Given the description of an element on the screen output the (x, y) to click on. 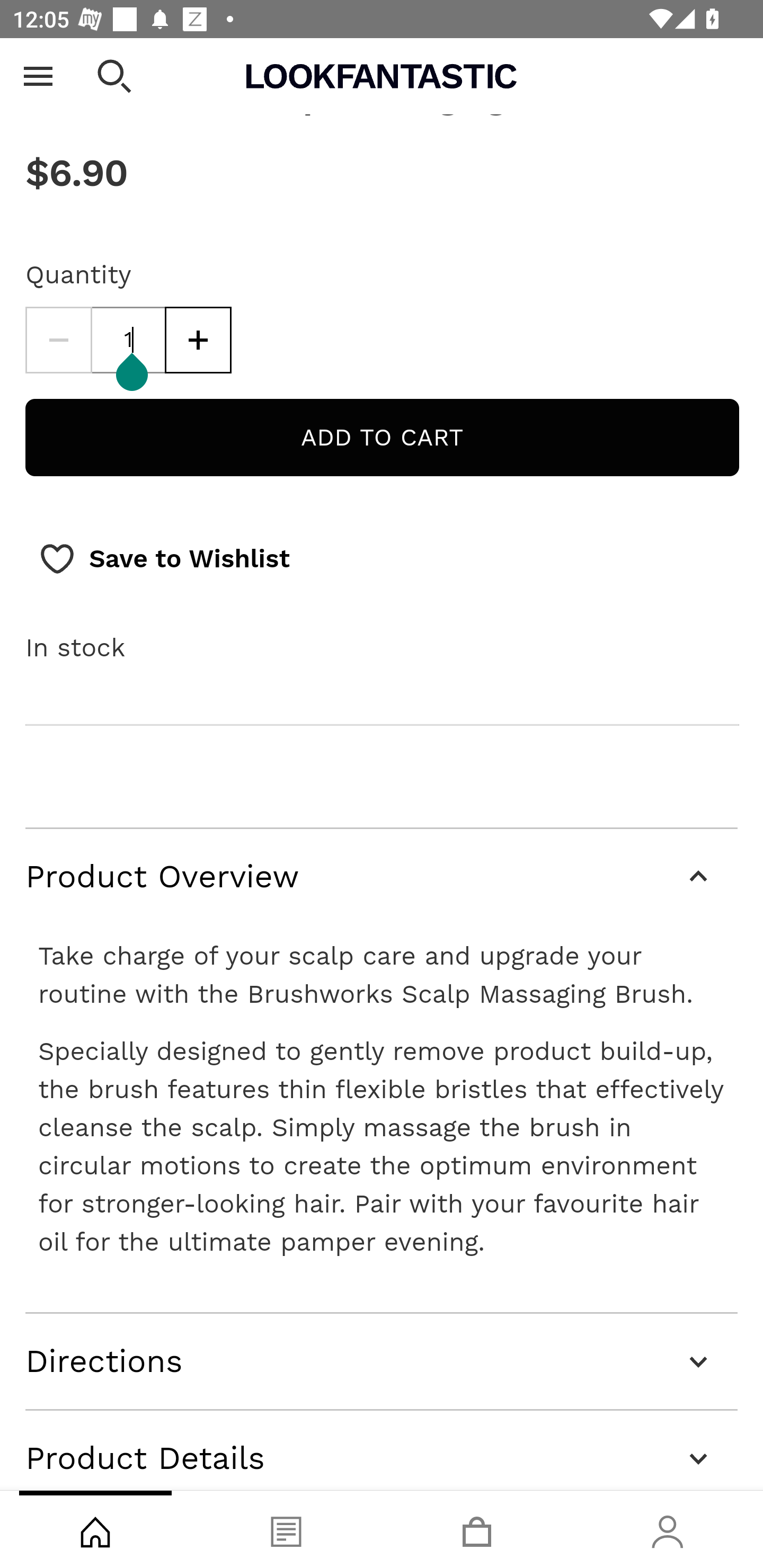
Decrease quantity (58, 340)
1, Quantity (128, 340)
Increase quantity (197, 340)
Add to cart (382, 438)
Save to Wishlist (164, 559)
Product Overview (381, 877)
Directions (381, 1361)
Product Details (381, 1450)
Shop, tab, 1 of 4 (95, 1529)
Blog, tab, 2 of 4 (285, 1529)
Basket, tab, 3 of 4 (476, 1529)
Account, tab, 4 of 4 (667, 1529)
